Given the description of an element on the screen output the (x, y) to click on. 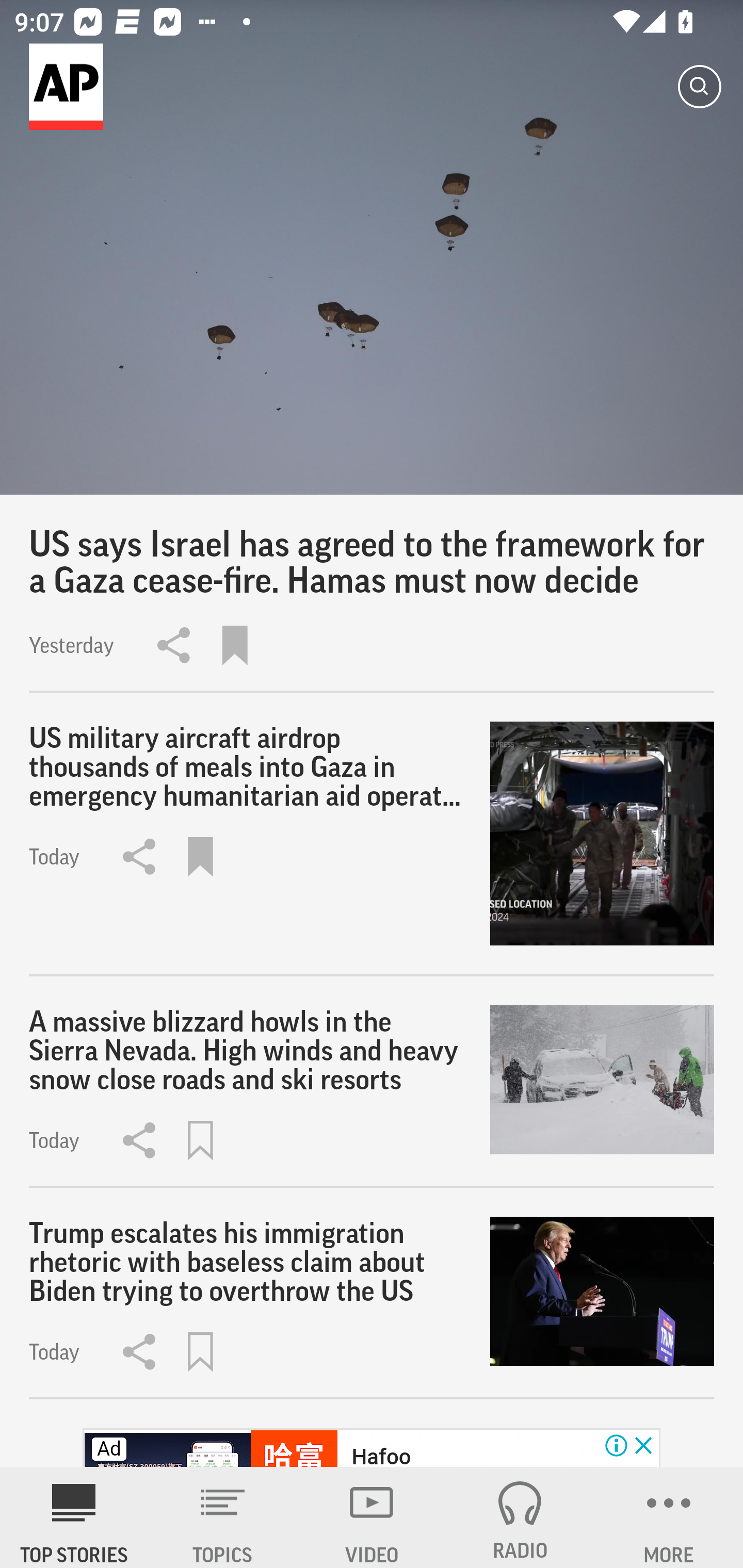
Hafoo (381, 1454)
AP News TOP STORIES (74, 1517)
TOPICS (222, 1517)
VIDEO (371, 1517)
RADIO (519, 1517)
MORE (668, 1517)
安裝 (621, 1494)
